Given the description of an element on the screen output the (x, y) to click on. 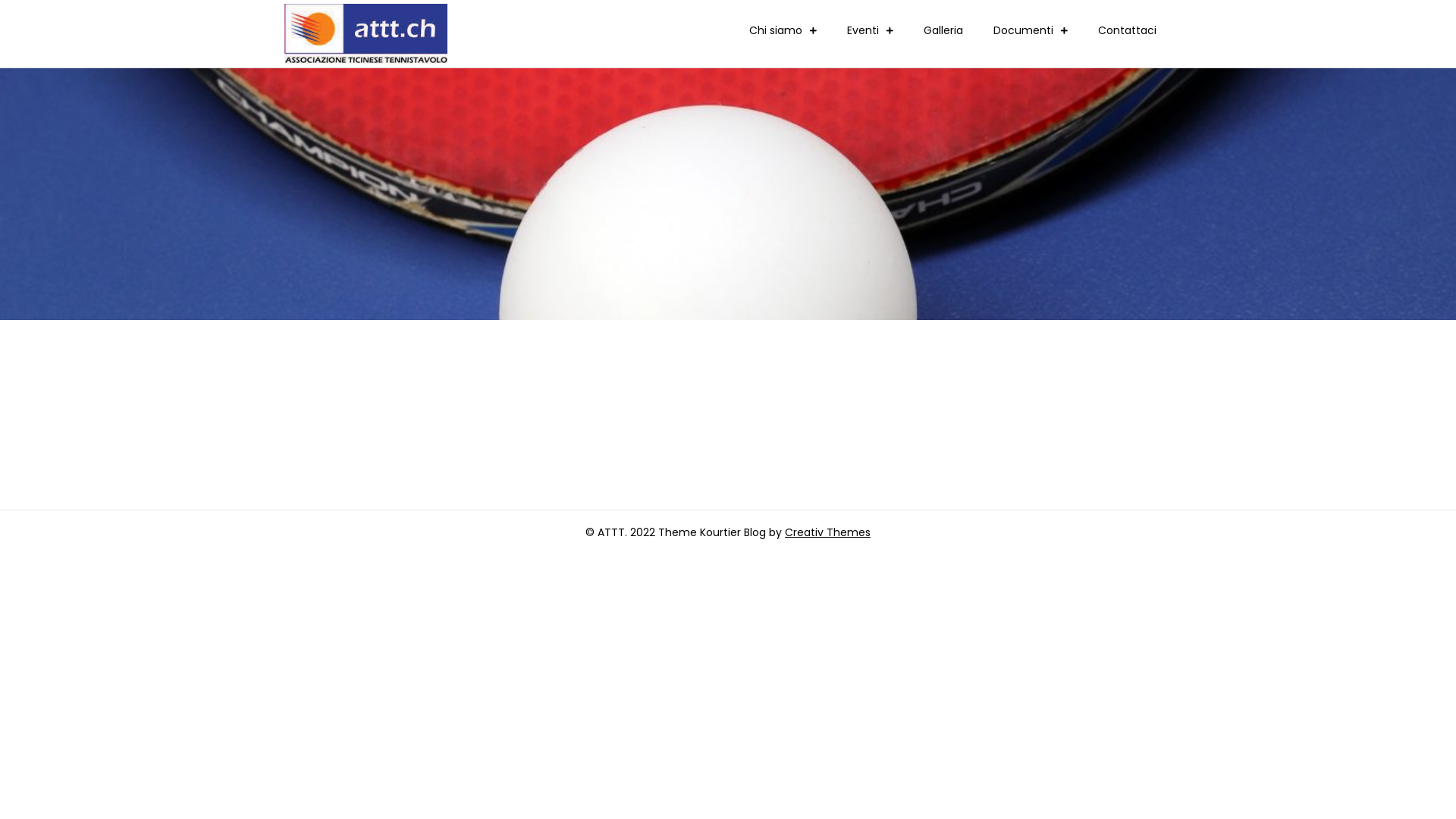
Chi siamo Element type: text (782, 30)
Eventi Element type: text (869, 30)
Galleria Element type: text (943, 30)
Creativ Themes Element type: text (827, 531)
Contattaci Element type: text (1126, 30)
ATTT Element type: text (479, 44)
Documenti Element type: text (1030, 30)
